Given the description of an element on the screen output the (x, y) to click on. 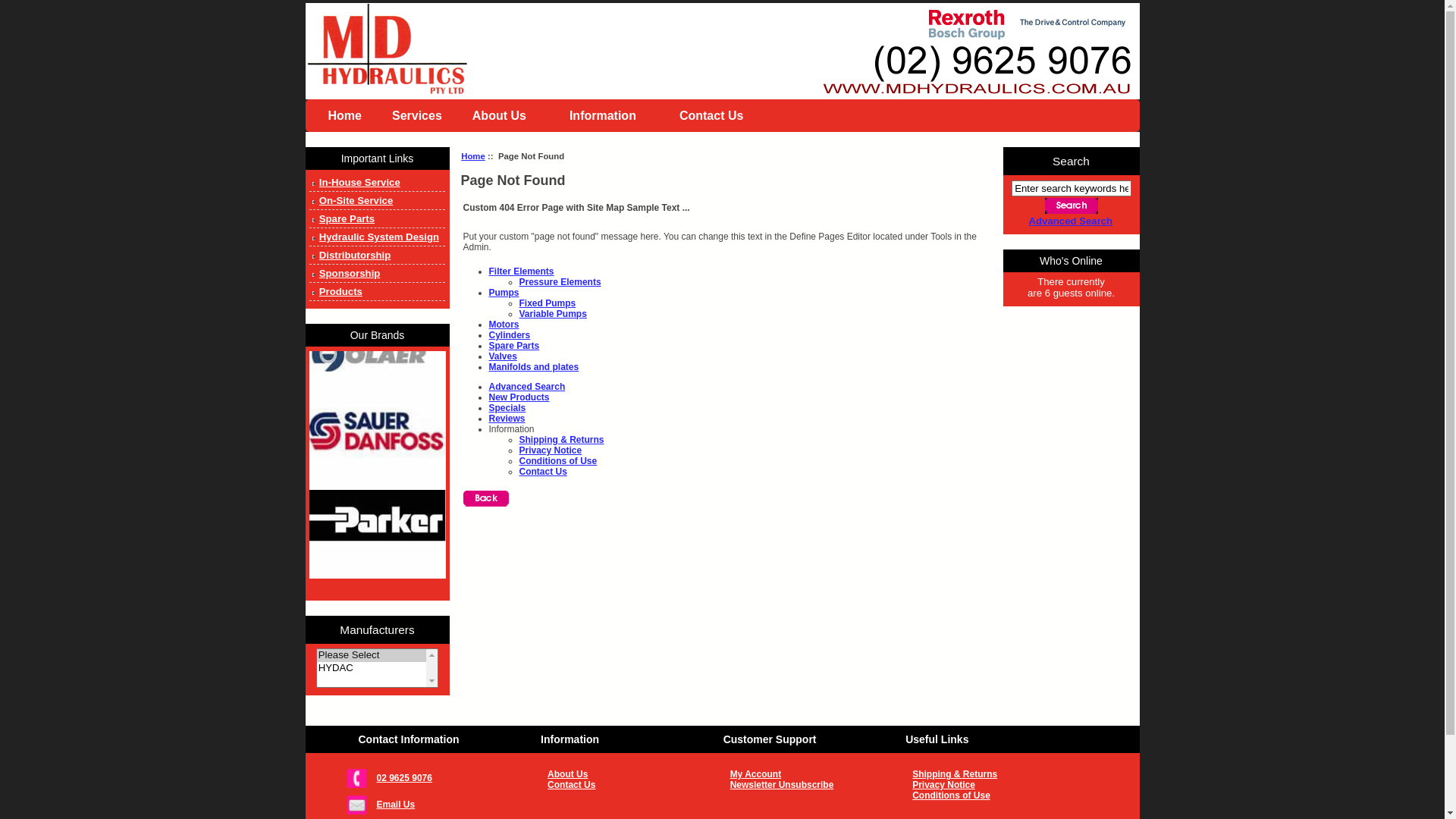
Shipping & Returns Element type: text (985, 773)
Manifolds and plates Element type: text (533, 366)
 MD Hydraulics  Element type: hover (721, 51)
New Products Element type: text (518, 397)
Conditions of Use Element type: text (985, 795)
Advanced Search Element type: text (1070, 220)
Reviews Element type: text (506, 418)
 Search  Element type: hover (1071, 205)
Conditions of Use Element type: text (557, 460)
Fixed Pumps Element type: text (546, 303)
Services Element type: text (416, 114)
Email Us Element type: text (443, 804)
Specials Element type: text (506, 407)
 Back  Element type: hover (485, 498)
About Us Element type: text (505, 114)
Pumps Element type: text (503, 292)
Contact Us Element type: text (542, 471)
Spare Parts Element type: text (377, 219)
Contact Us Element type: text (717, 114)
Products Element type: text (377, 291)
Shipping & Returns Element type: text (560, 439)
About Us Element type: text (620, 773)
On-Site Service Element type: text (377, 200)
Information Element type: text (608, 114)
Motors Element type: text (503, 324)
Home Element type: text (473, 155)
Hydraulic System Design Element type: text (377, 237)
Contact Us Element type: text (620, 784)
Spare Parts Element type: text (513, 345)
My Account Element type: text (803, 773)
Filter Elements Element type: text (520, 271)
Privacy Notice Element type: text (549, 450)
Newsletter Unsubscribe Element type: text (803, 784)
Valves Element type: text (502, 356)
Privacy Notice Element type: text (985, 784)
Advanced Search Element type: text (526, 386)
Distributorship Element type: text (377, 255)
Home Element type: text (344, 114)
02 9625 9076 Element type: text (443, 777)
Cylinders Element type: text (509, 334)
Pressure Elements Element type: text (559, 281)
In-House Service Element type: text (377, 182)
Variable Pumps Element type: text (552, 313)
Sponsorship Element type: text (377, 273)
